Given the description of an element on the screen output the (x, y) to click on. 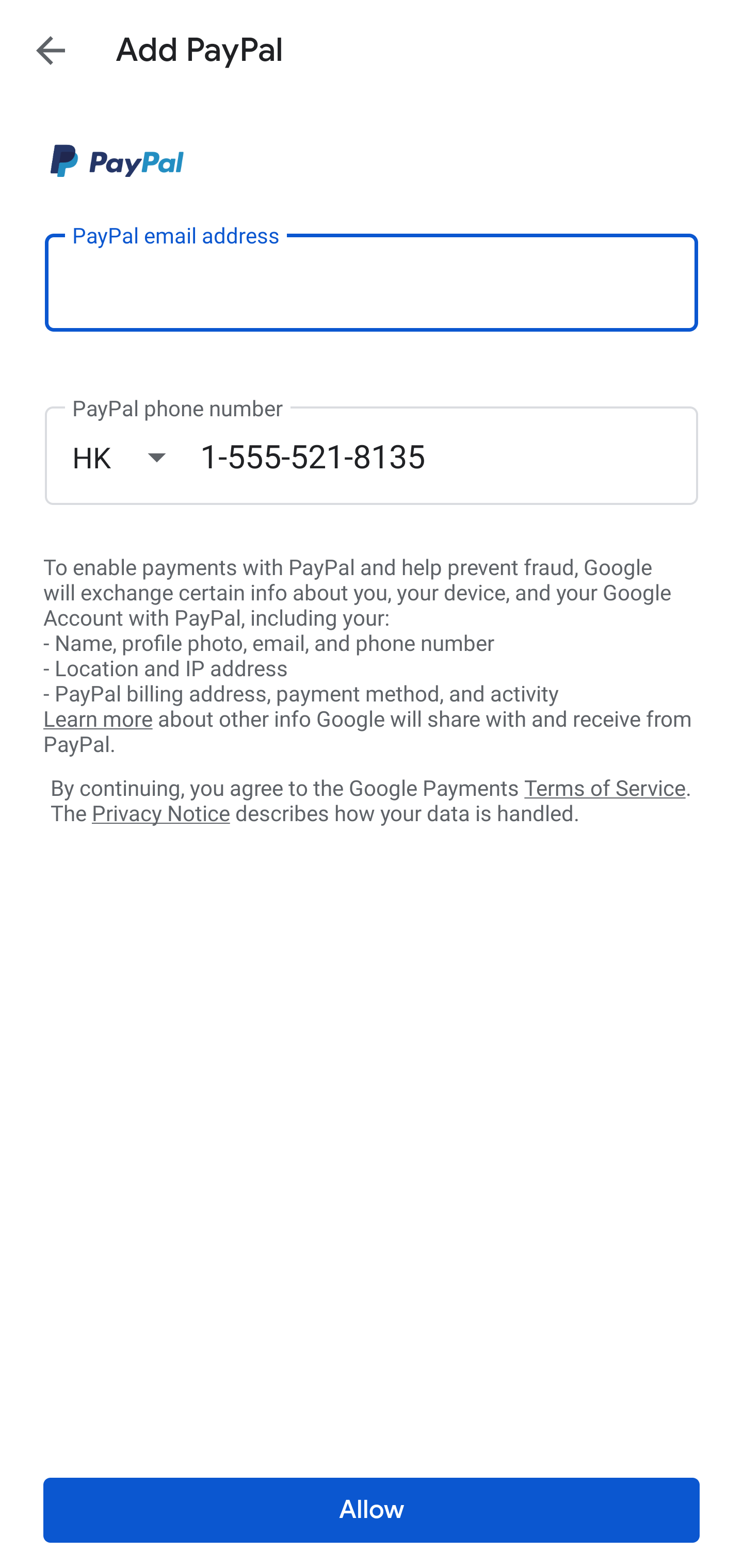
Navigate up (50, 50)
PayPal email address (371, 282)
HK (135, 456)
Learn more (97, 719)
Terms of Service (604, 787)
Privacy Notice (160, 814)
Allow (371, 1510)
